Given the description of an element on the screen output the (x, y) to click on. 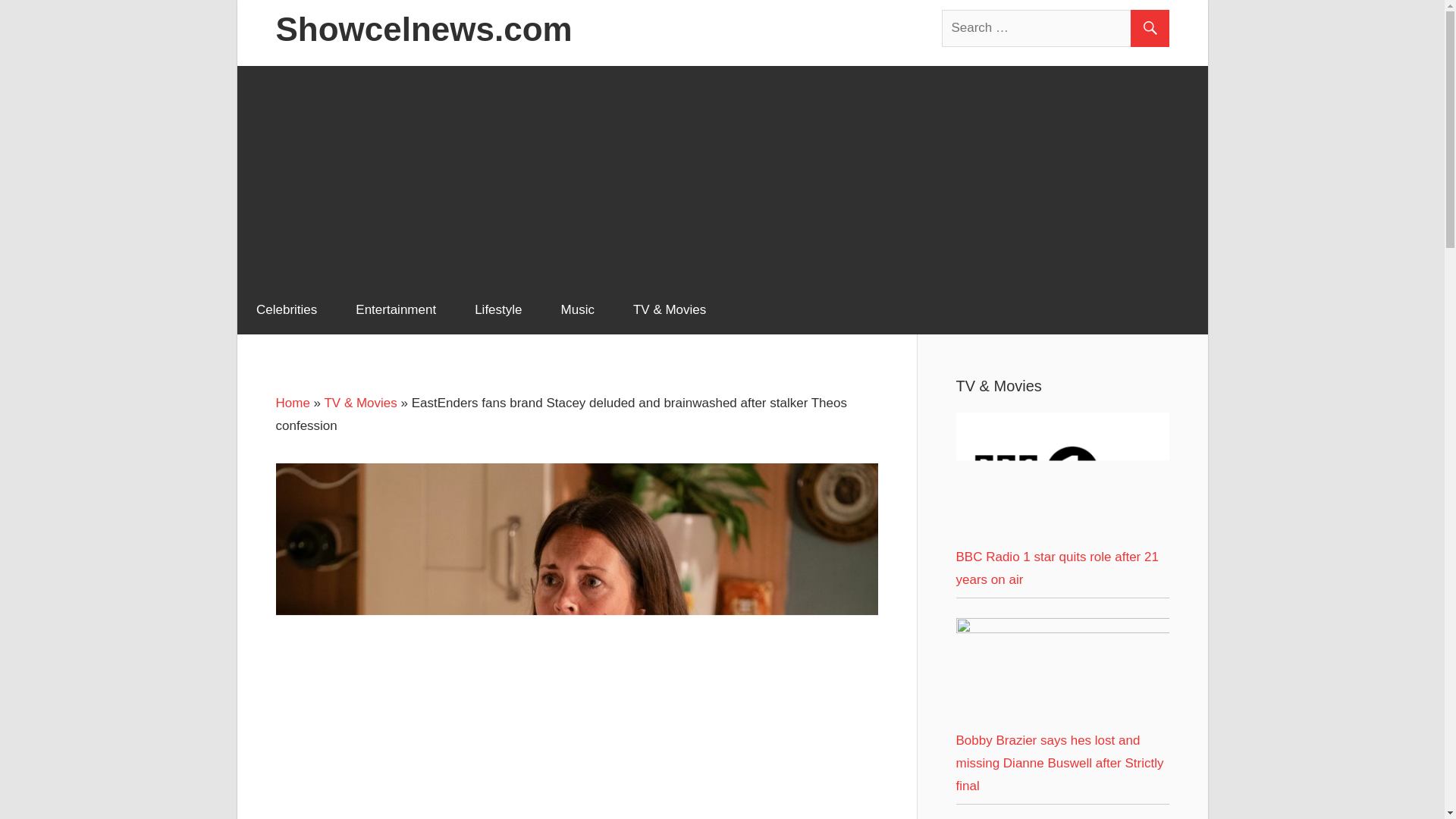
Search for: (1055, 27)
BBC Radio 1 star quits role after 21 years on air (1062, 534)
Entertainment (395, 309)
Home (293, 402)
Music (576, 309)
BBC Radio 1 star quits role after 21 years on air (1056, 568)
BBC Radio 1 star quits role after 21 years on air (1062, 475)
